Given the description of an element on the screen output the (x, y) to click on. 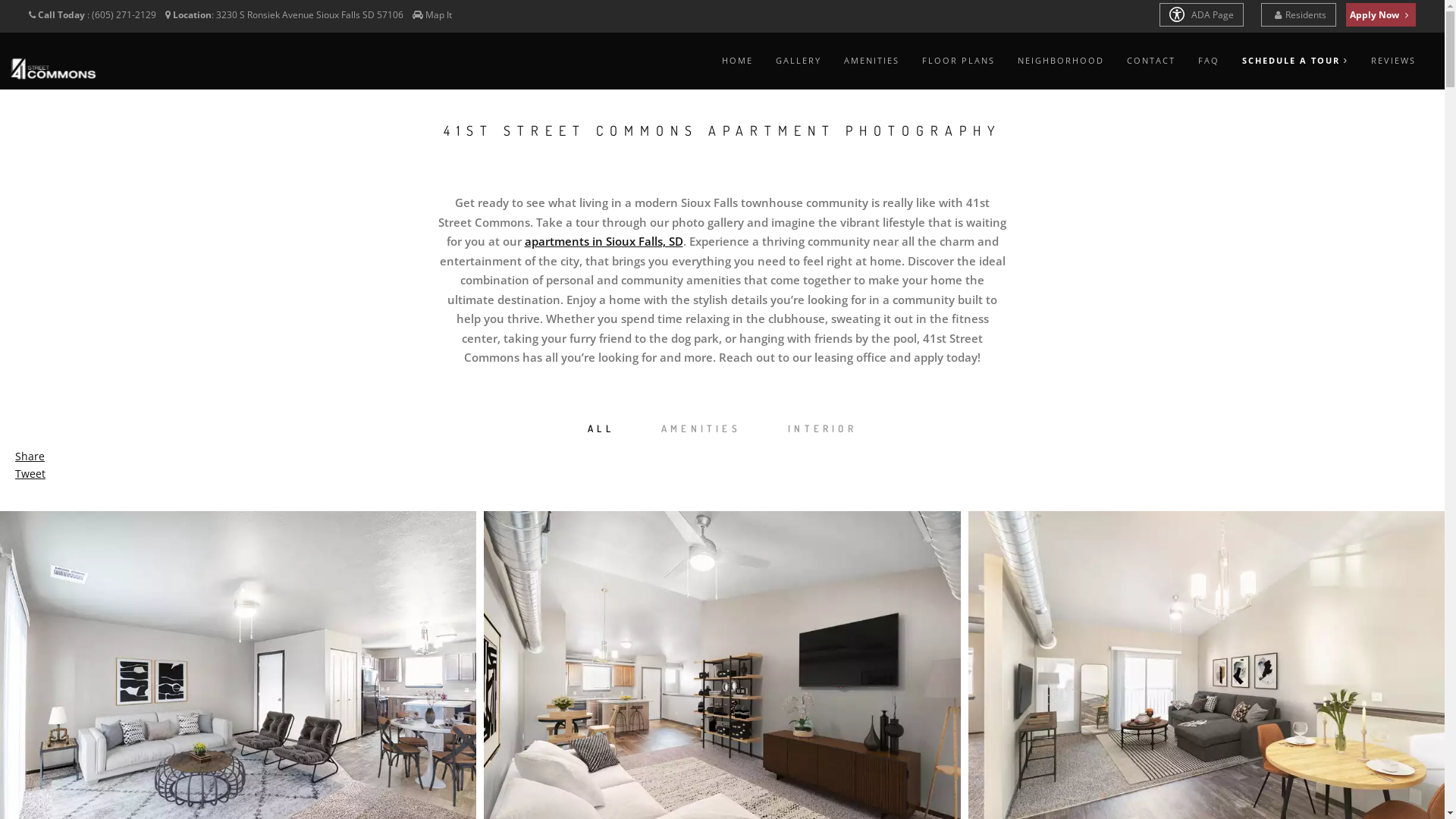
CONTACT Element type: text (1150, 59)
Residents Element type: text (1298, 14)
SCHEDULE A TOUR Element type: text (1295, 59)
Share Element type: text (29, 455)
FAQ Element type: text (1208, 59)
ADA Page Element type: text (1201, 14)
GALLERY Element type: text (798, 59)
FLOOR PLANS Element type: text (958, 59)
Tweet Element type: text (30, 473)
NEIGHBORHOOD Element type: text (1060, 59)
Map It Element type: text (438, 14)
HOME Element type: text (737, 59)
AMENITIES Element type: text (700, 428)
3230 S Ronsiek Avenue Sioux Falls SD 57106 Element type: text (310, 14)
INTERIOR Element type: text (821, 428)
AMENITIES Element type: text (871, 59)
apartments in Sioux Falls, SD Element type: text (603, 240)
Apply Now Element type: text (1380, 14)
REVIEWS Element type: text (1393, 59)
ALL Element type: text (600, 428)
41st Street Commons in Sioux Falls, SD Element type: hover (52, 68)
